Given the description of an element on the screen output the (x, y) to click on. 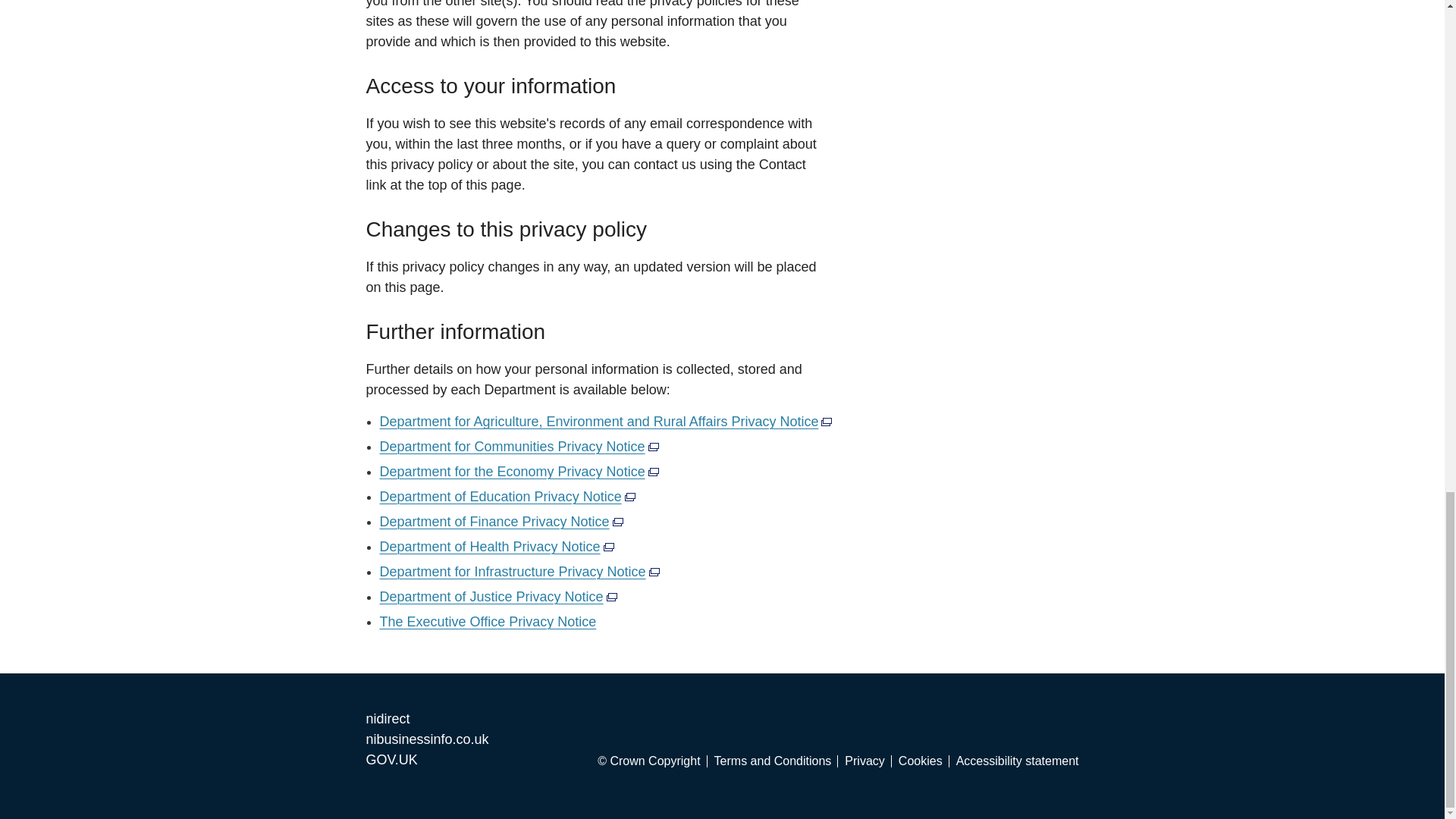
Accessibility statement (1017, 761)
nidirect (387, 718)
Terms and Conditions (776, 761)
nibusinessinfo.co.uk (426, 739)
Cookies (923, 761)
GOV.UK (390, 759)
The Executive Office Privacy Notice (486, 621)
